Given the description of an element on the screen output the (x, y) to click on. 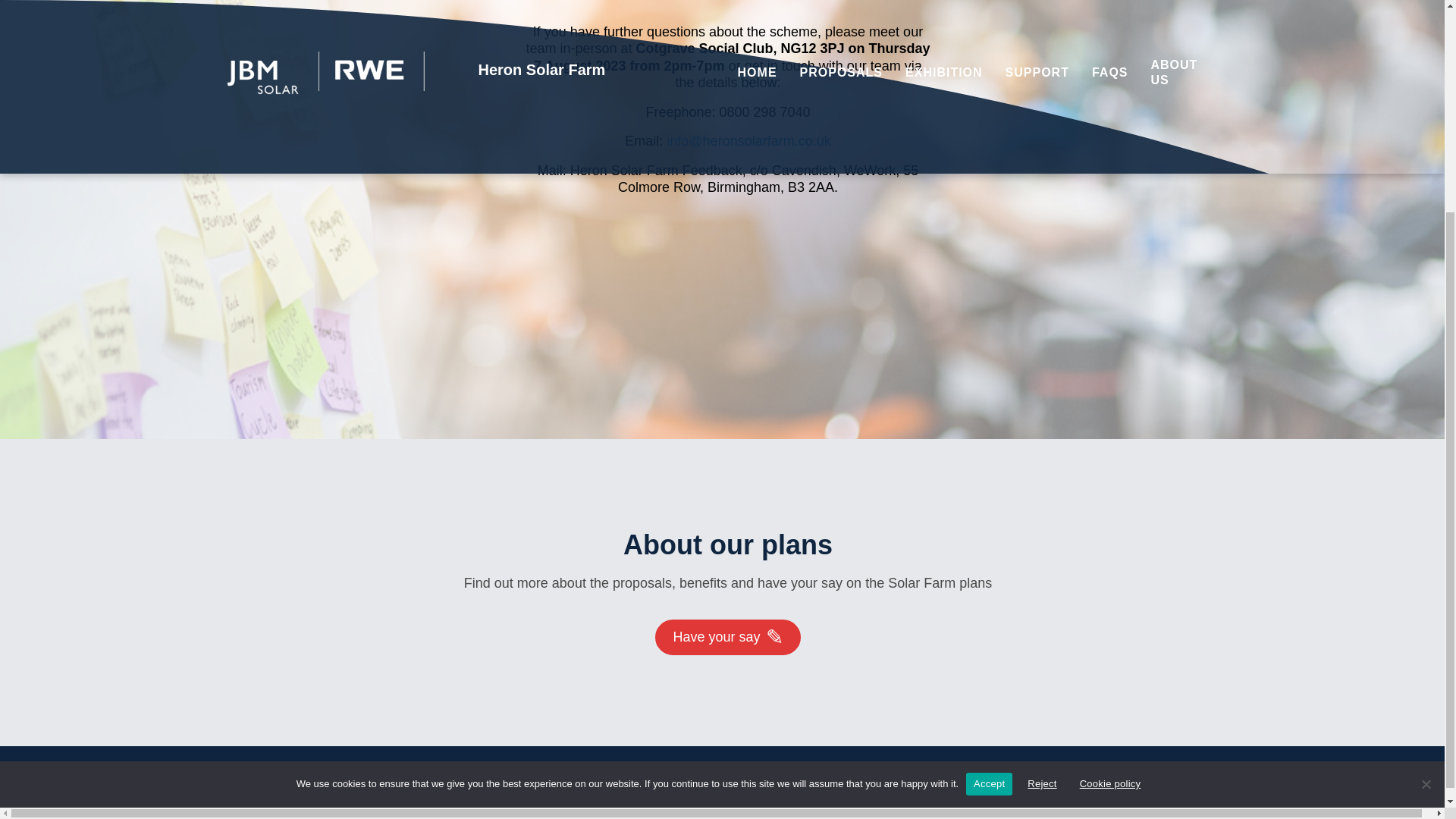
JBM Solar (1064, 769)
Reject (1425, 501)
Privacy (997, 769)
Cookie policy (1109, 500)
Reset cookie consent (1042, 794)
Reset cookie consent (1042, 794)
Reject (1042, 500)
Accept (988, 500)
Have your say (727, 637)
